Given the description of an element on the screen output the (x, y) to click on. 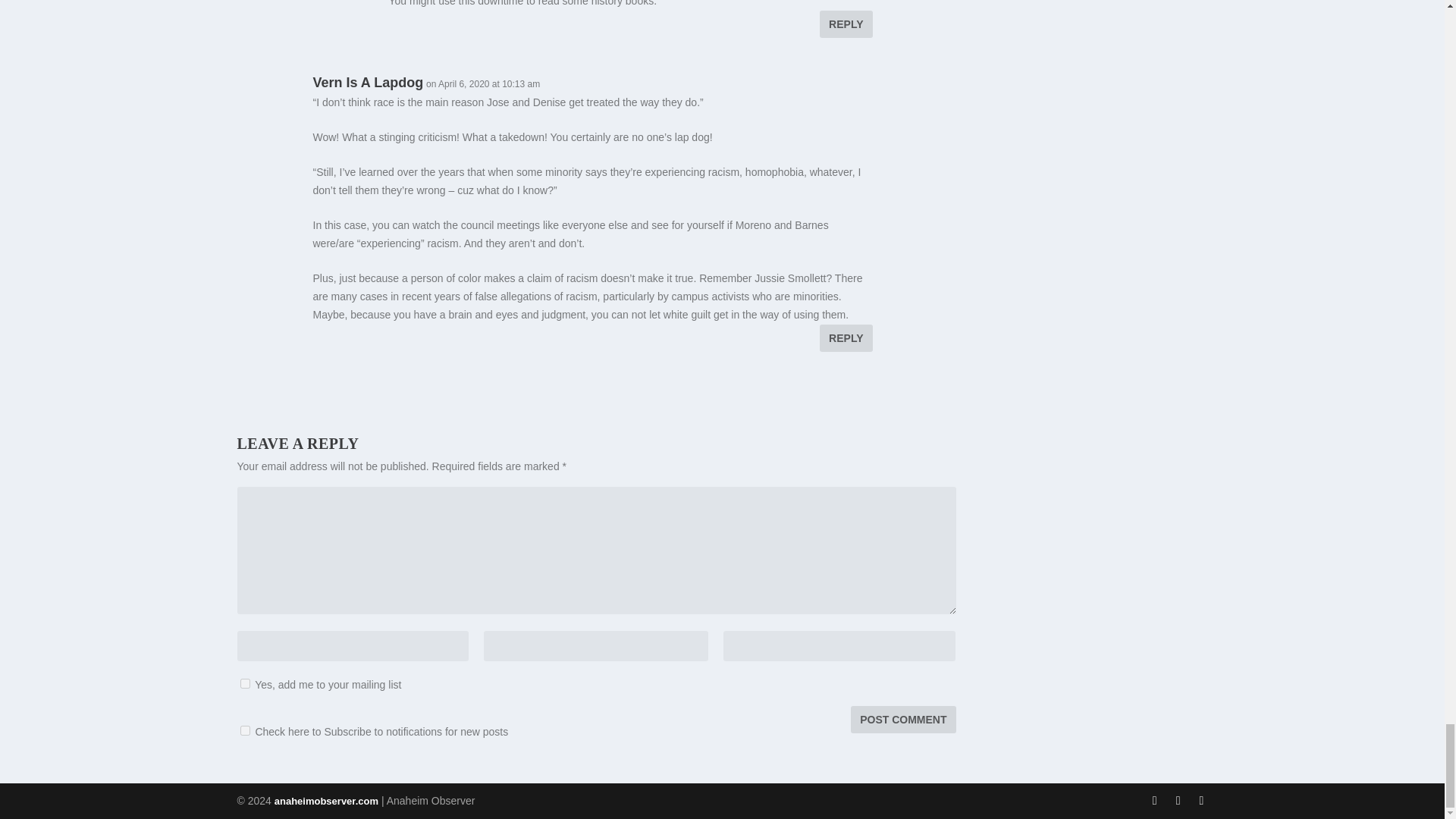
1 (244, 730)
Post Comment (902, 718)
1 (244, 682)
